Given the description of an element on the screen output the (x, y) to click on. 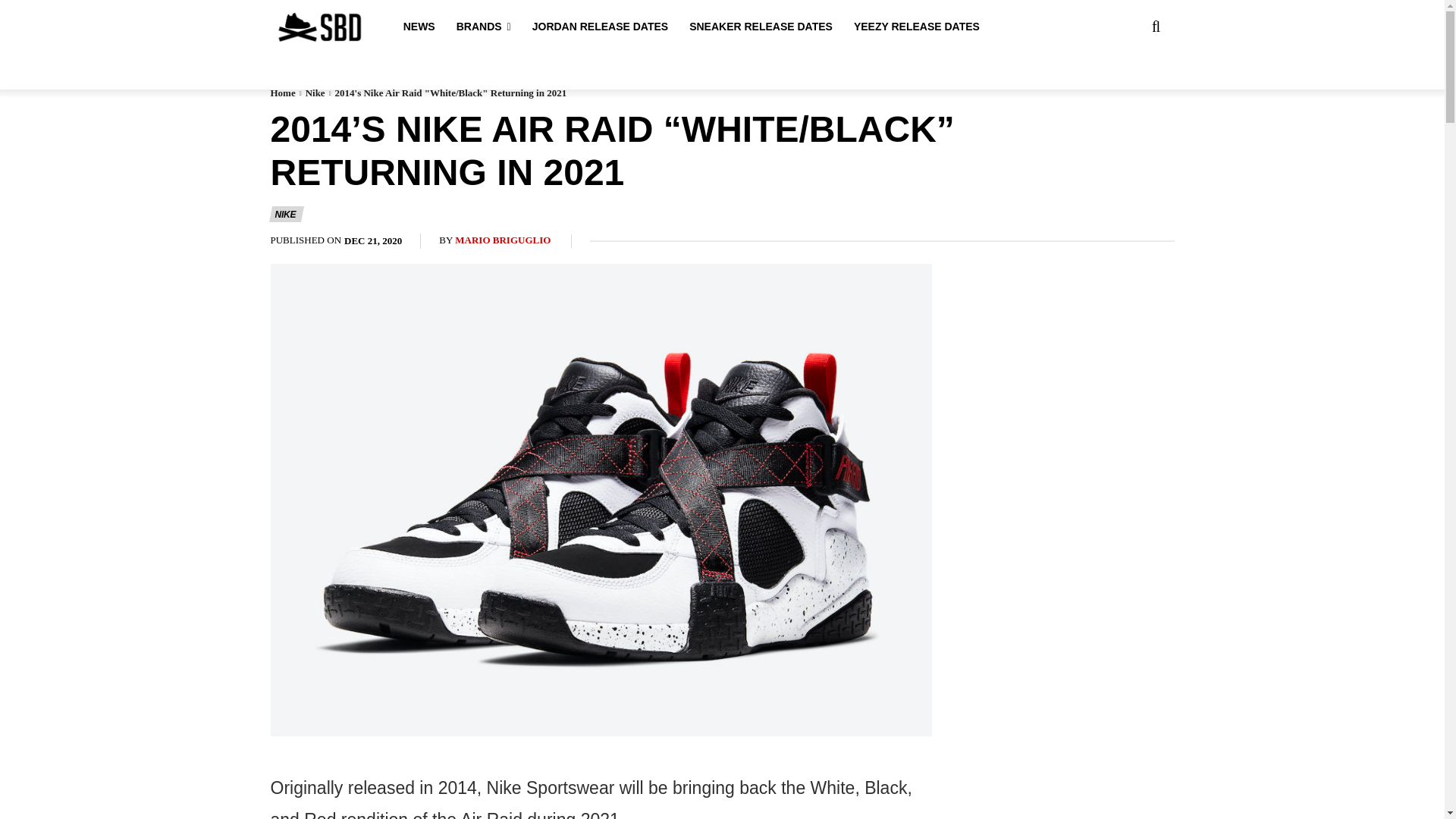
Sneaker News and Release Dates (318, 26)
JORDAN RELEASE DATES (600, 26)
SNEAKER RELEASE DATES (760, 26)
Sneaker News and Release Dates (288, 26)
YEEZY RELEASE DATES (916, 26)
View all posts in Nike (314, 92)
BRANDS (484, 26)
